Given the description of an element on the screen output the (x, y) to click on. 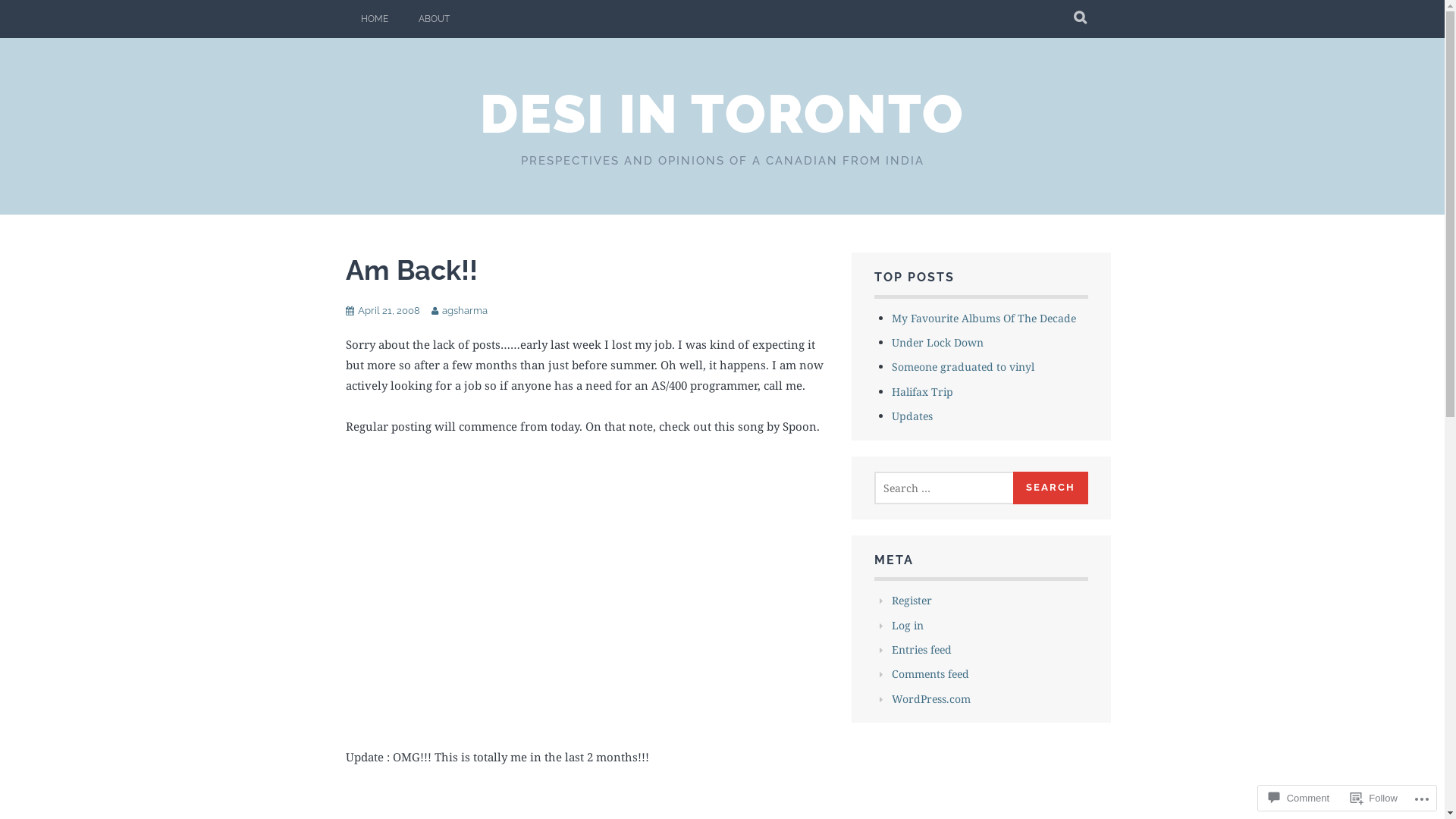
Am Back!! Element type: text (411, 269)
Under Lock Down Element type: text (937, 342)
Register Element type: text (911, 600)
WordPress.com Element type: text (930, 698)
Comments feed Element type: text (930, 673)
April 21, 2008 Element type: text (388, 310)
Someone graduated to vinyl Element type: text (962, 366)
Comment Element type: text (1298, 797)
My Favourite Albums Of The Decade Element type: text (983, 317)
Entries feed Element type: text (921, 649)
Search Element type: text (1050, 487)
DESI IN TORONTO Element type: text (722, 113)
HOME Element type: text (374, 18)
Updates Element type: text (911, 415)
agsharma Element type: text (463, 310)
Follow Element type: text (1373, 797)
Halifax Trip Element type: text (922, 391)
ABOUT Element type: text (433, 18)
Log in Element type: text (907, 625)
